Given the description of an element on the screen output the (x, y) to click on. 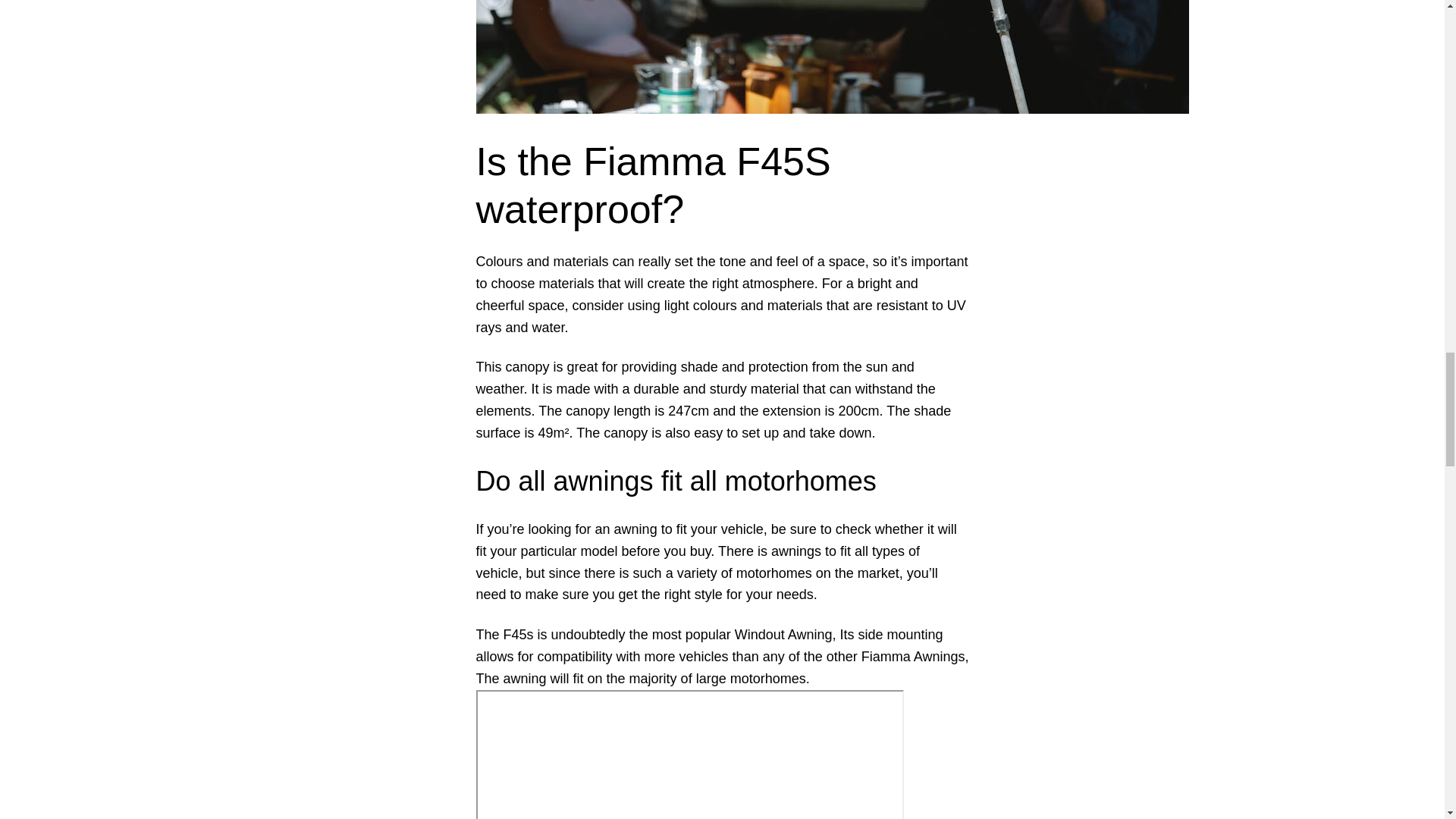
YouTube video player (690, 754)
